Given the description of an element on the screen output the (x, y) to click on. 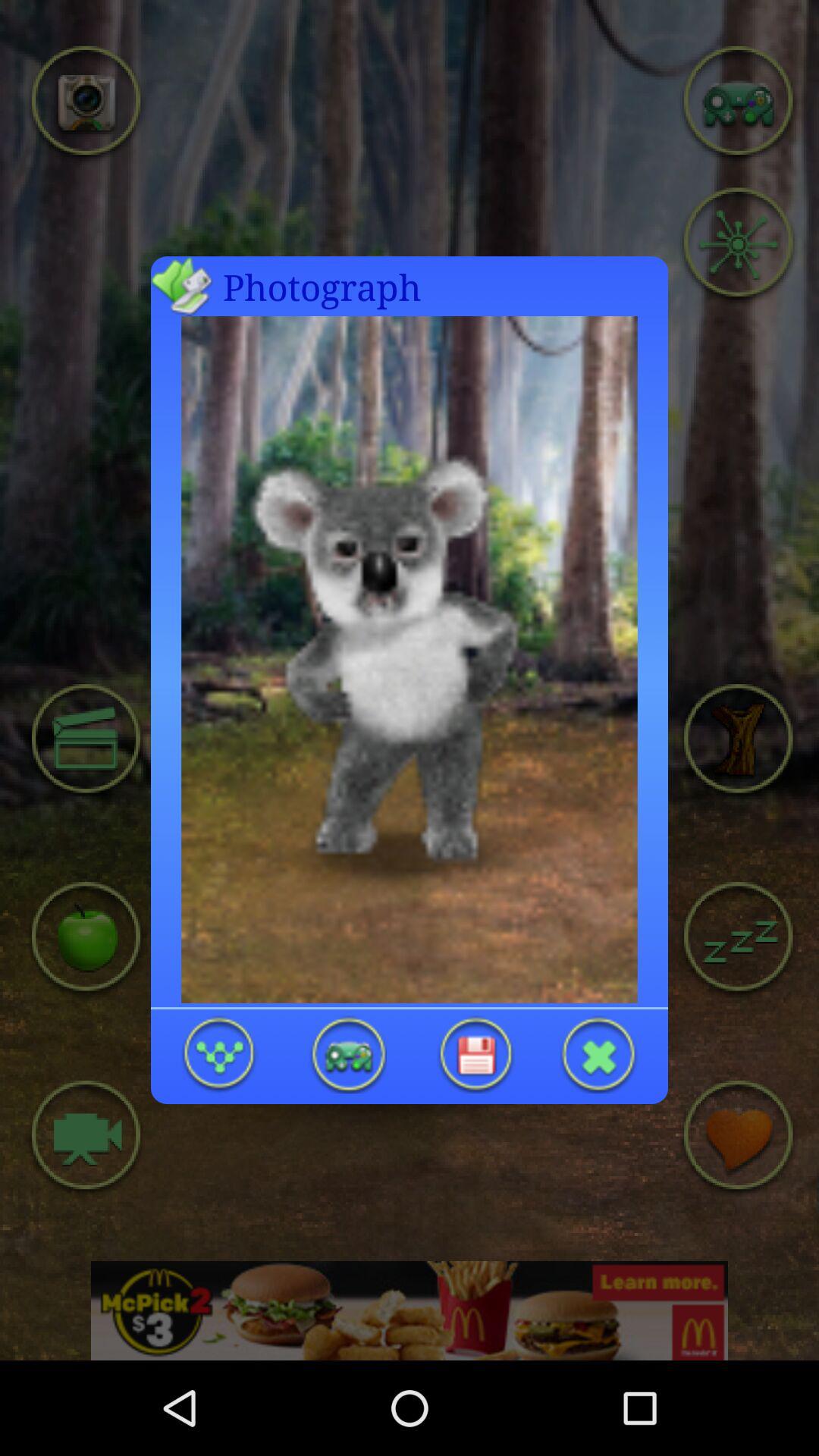
save koala photograph (475, 1054)
